Given the description of an element on the screen output the (x, y) to click on. 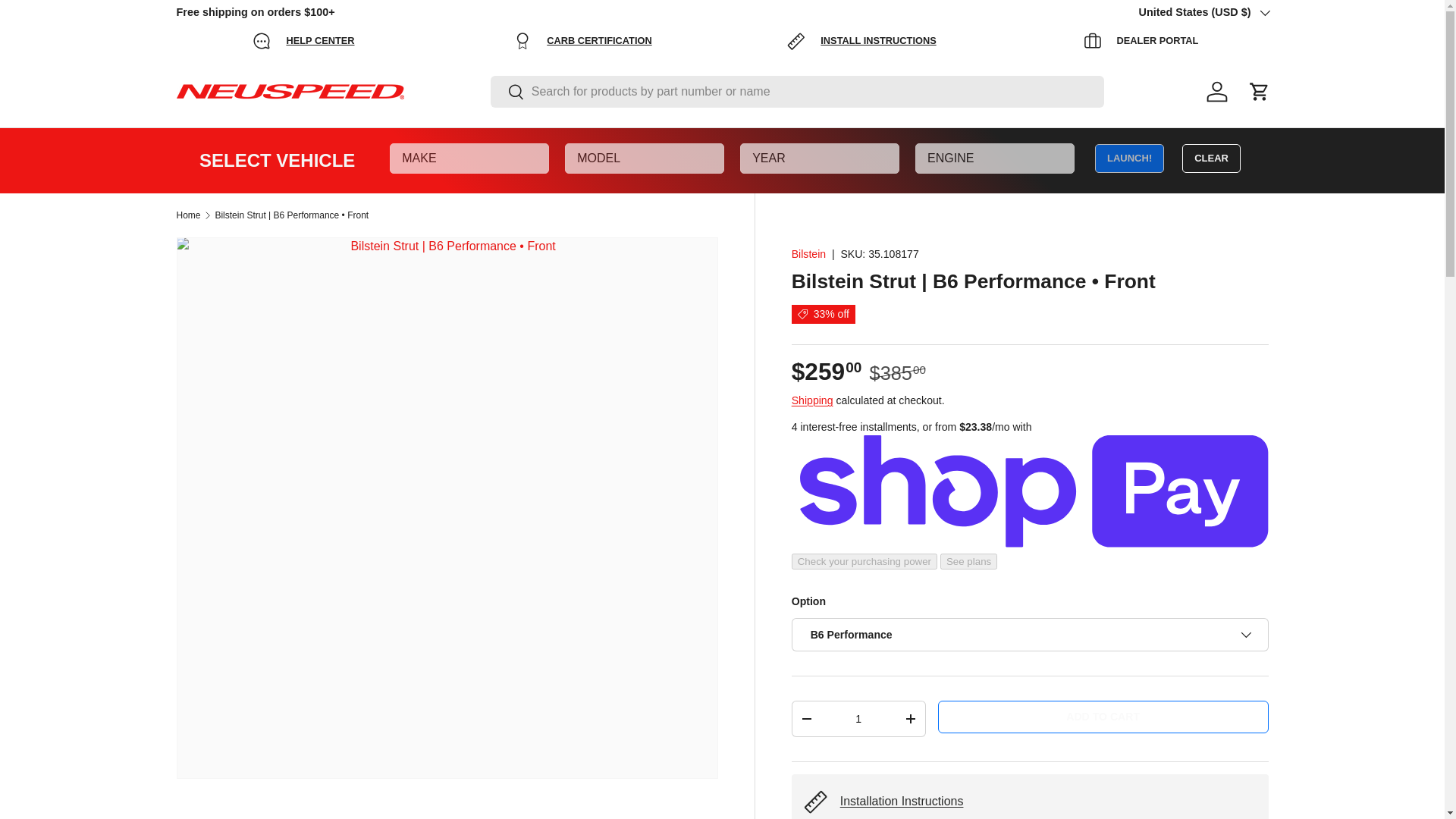
INSTALL INSTRUCTIONS (860, 40)
Log in (1216, 91)
CLEAR (1211, 158)
Home (188, 215)
B6 Performance (1030, 634)
LAUNCH! (1128, 158)
Installation Instructions (901, 800)
Cart (1258, 91)
Installation Instructions (901, 800)
SKIP TO CONTENT (68, 21)
